Given the description of an element on the screen output the (x, y) to click on. 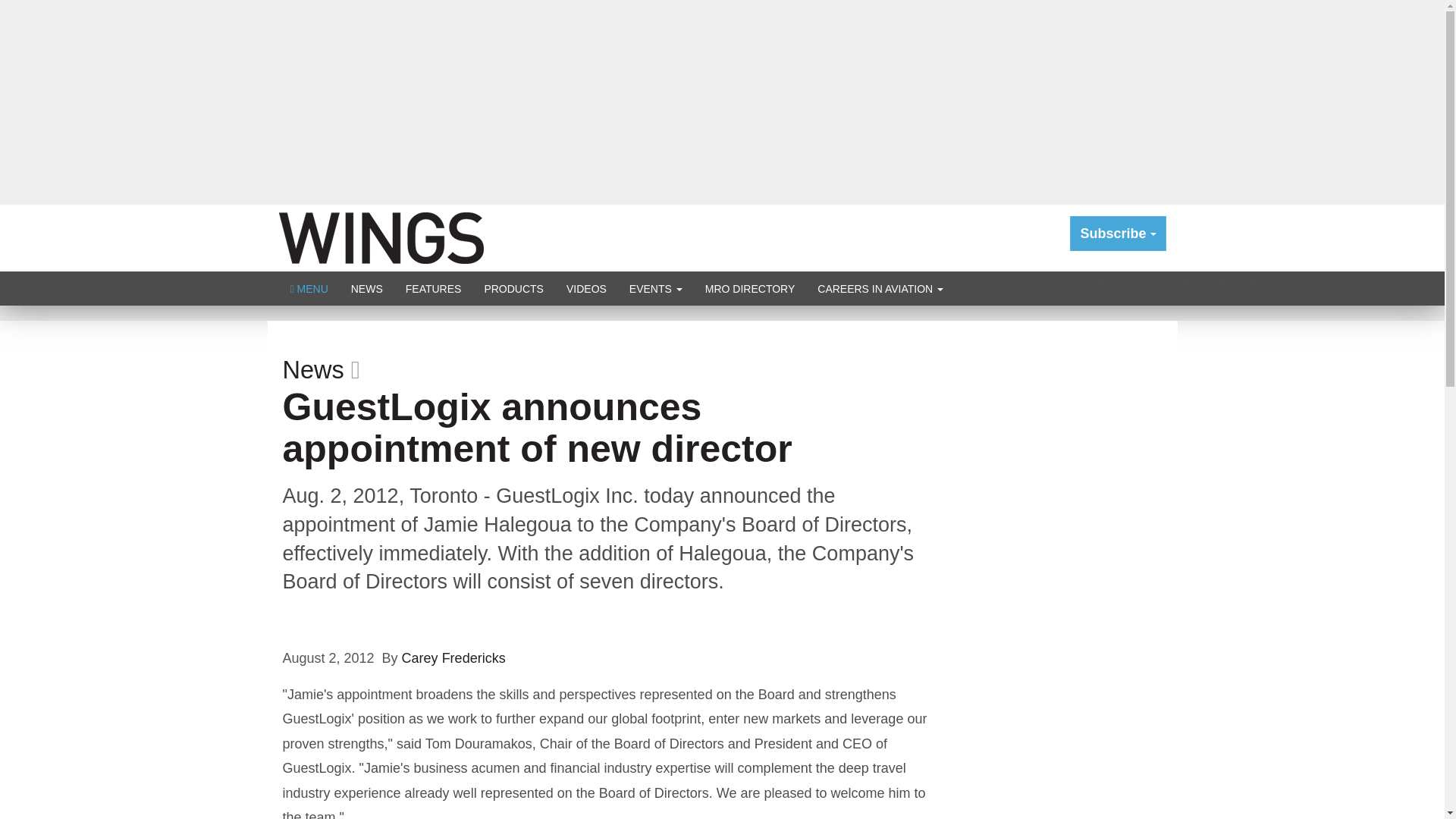
FEATURES (433, 288)
MENU (309, 288)
Subscribe (1118, 233)
PRODUCTS (512, 288)
Click to show site navigation (309, 288)
VIDEOS (585, 288)
Wings Magazine (381, 237)
EVENTS (655, 288)
NEWS (366, 288)
MRO DIRECTORY (750, 288)
CAREERS IN AVIATION (880, 288)
